Given the description of an element on the screen output the (x, y) to click on. 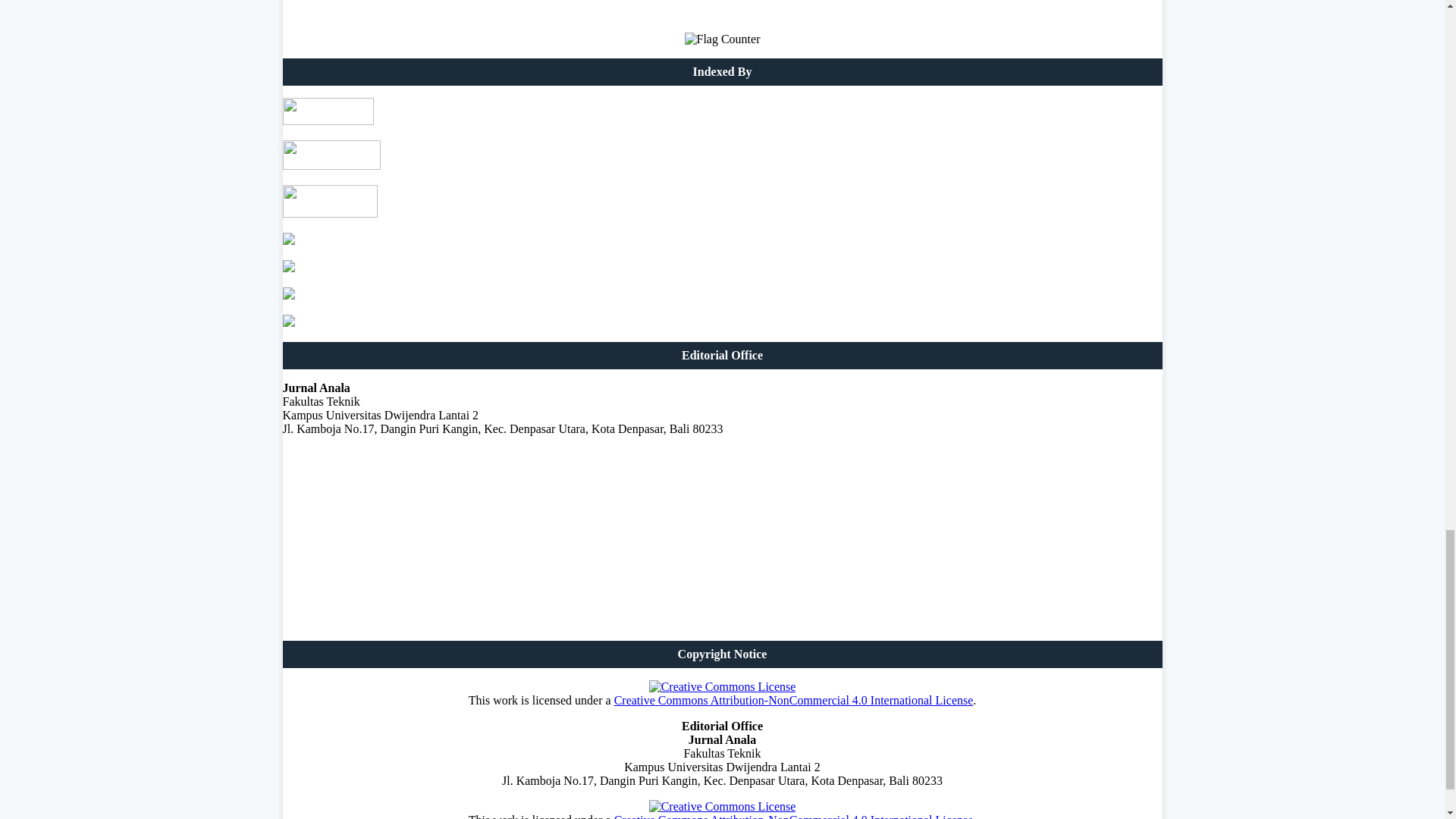
Dimensions (288, 295)
BASE Search (288, 240)
Index Copernicus (288, 267)
Garuda (329, 213)
